Given the description of an element on the screen output the (x, y) to click on. 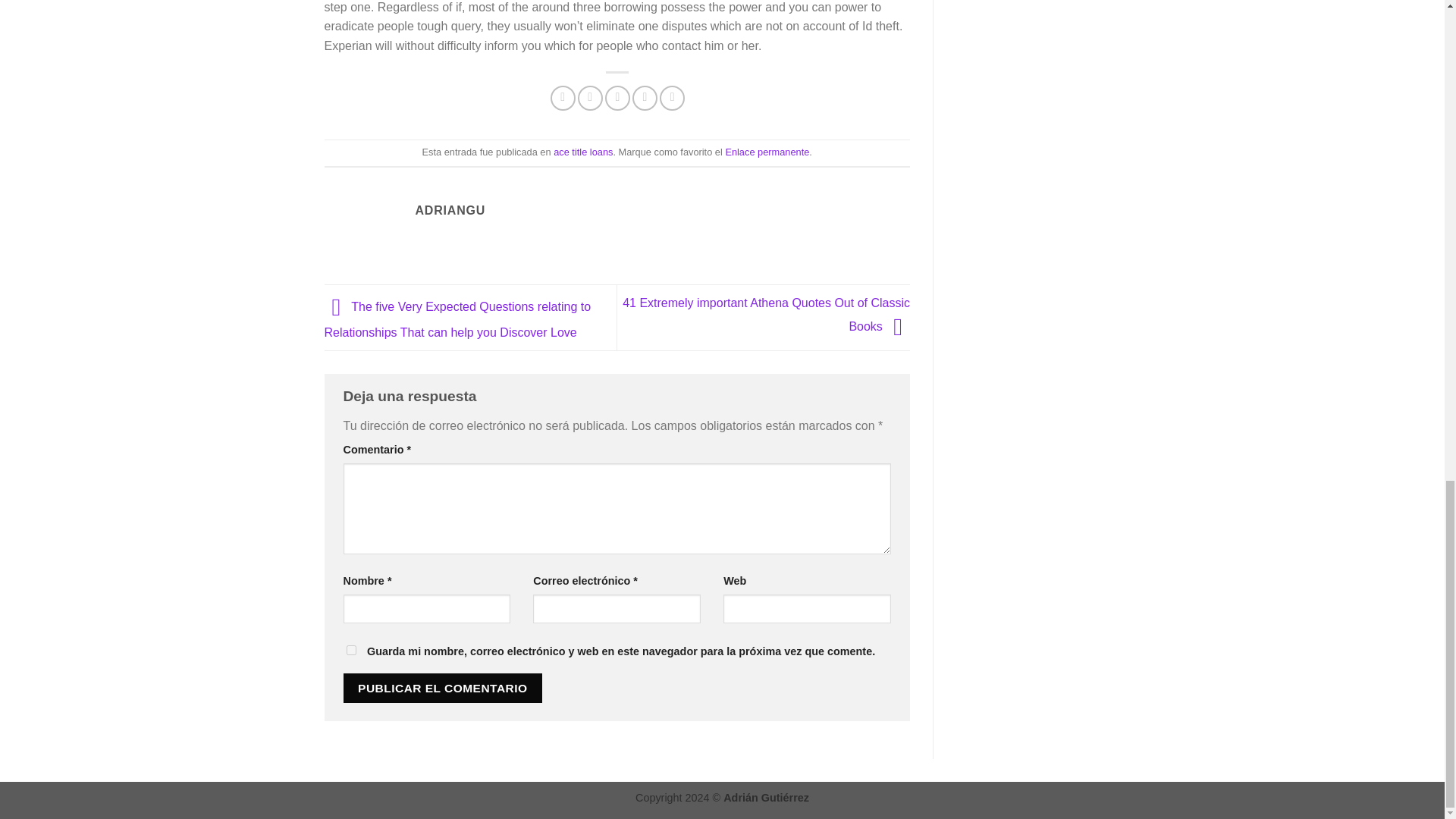
yes (350, 650)
Compartir en LinkedIn (671, 97)
Enlace permanente (767, 152)
Publicar el comentario (441, 687)
Publicar el comentario (441, 687)
41 Extremely important Athena Quotes Out of Classic Books (766, 314)
Compartir en Facebook (562, 97)
ace title loans (582, 152)
